Given the description of an element on the screen output the (x, y) to click on. 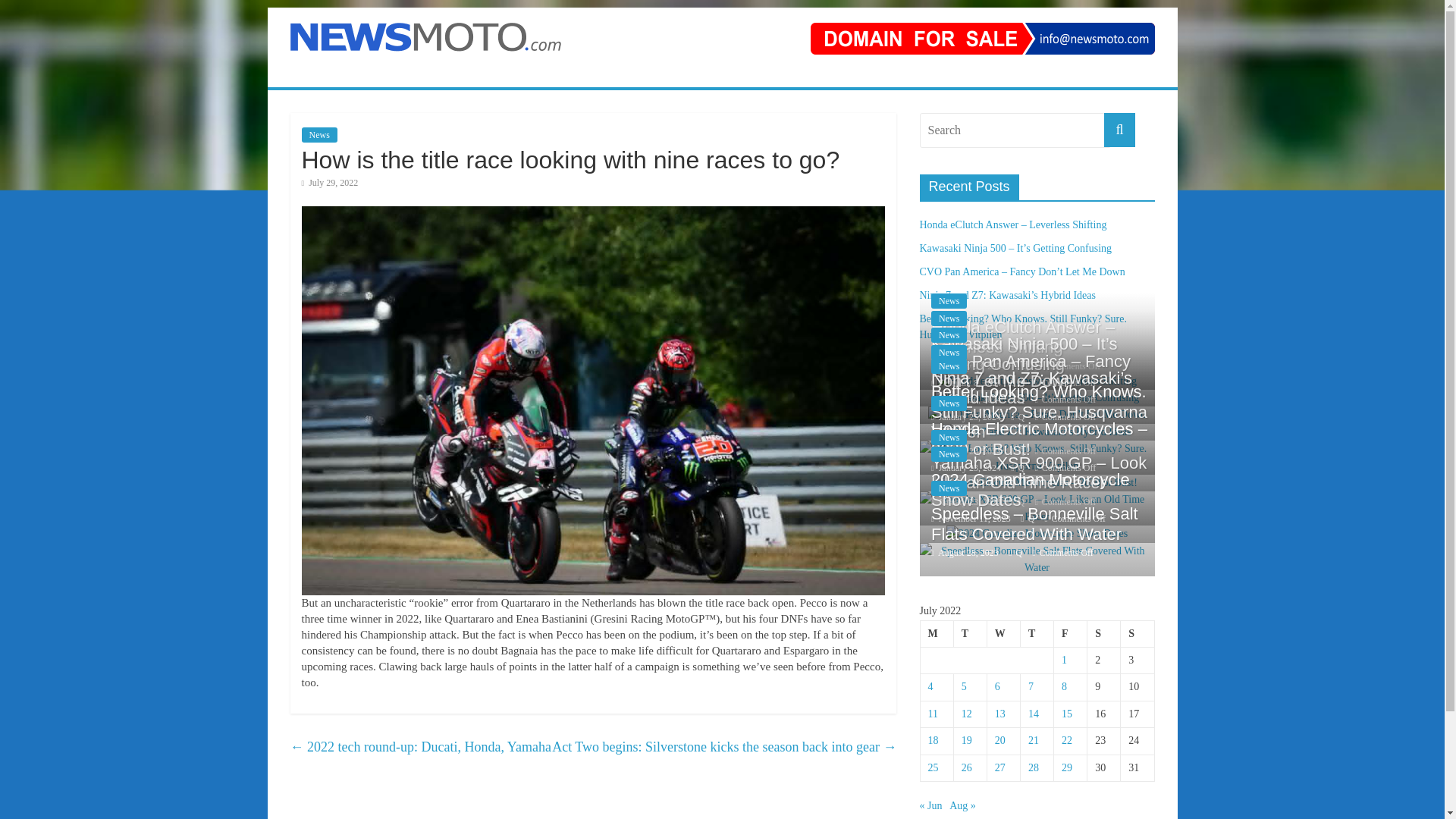
05:01 (968, 366)
January 23, 2024 (966, 450)
07:07 (329, 182)
January 30, 2024 (966, 398)
05:34 (966, 398)
January 23, 2024 (966, 467)
News (948, 403)
News (948, 352)
News (948, 365)
